Given the description of an element on the screen output the (x, y) to click on. 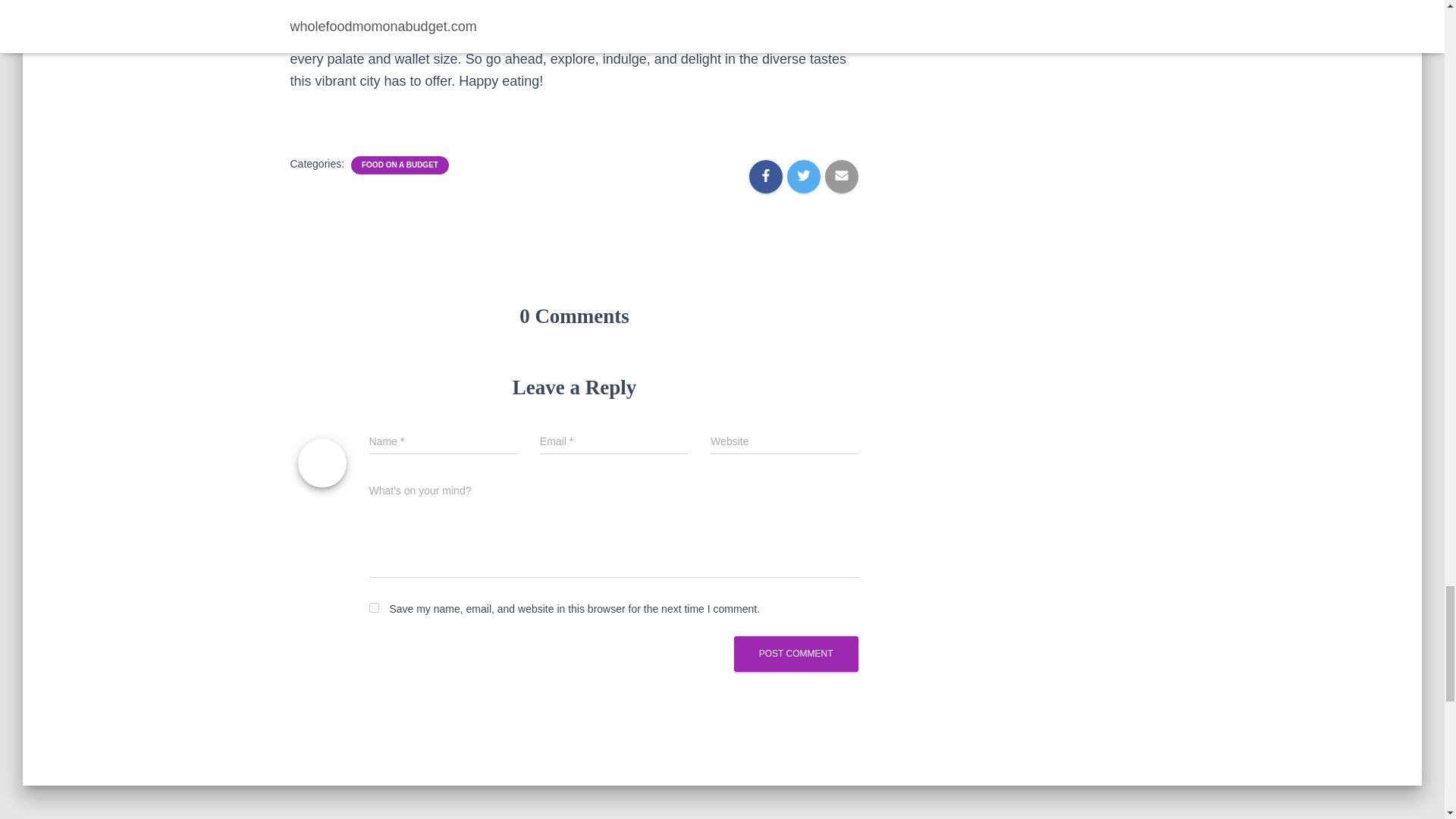
Post Comment (796, 653)
Post Comment (796, 653)
yes (373, 607)
FOOD ON A BUDGET (399, 164)
